Given the description of an element on the screen output the (x, y) to click on. 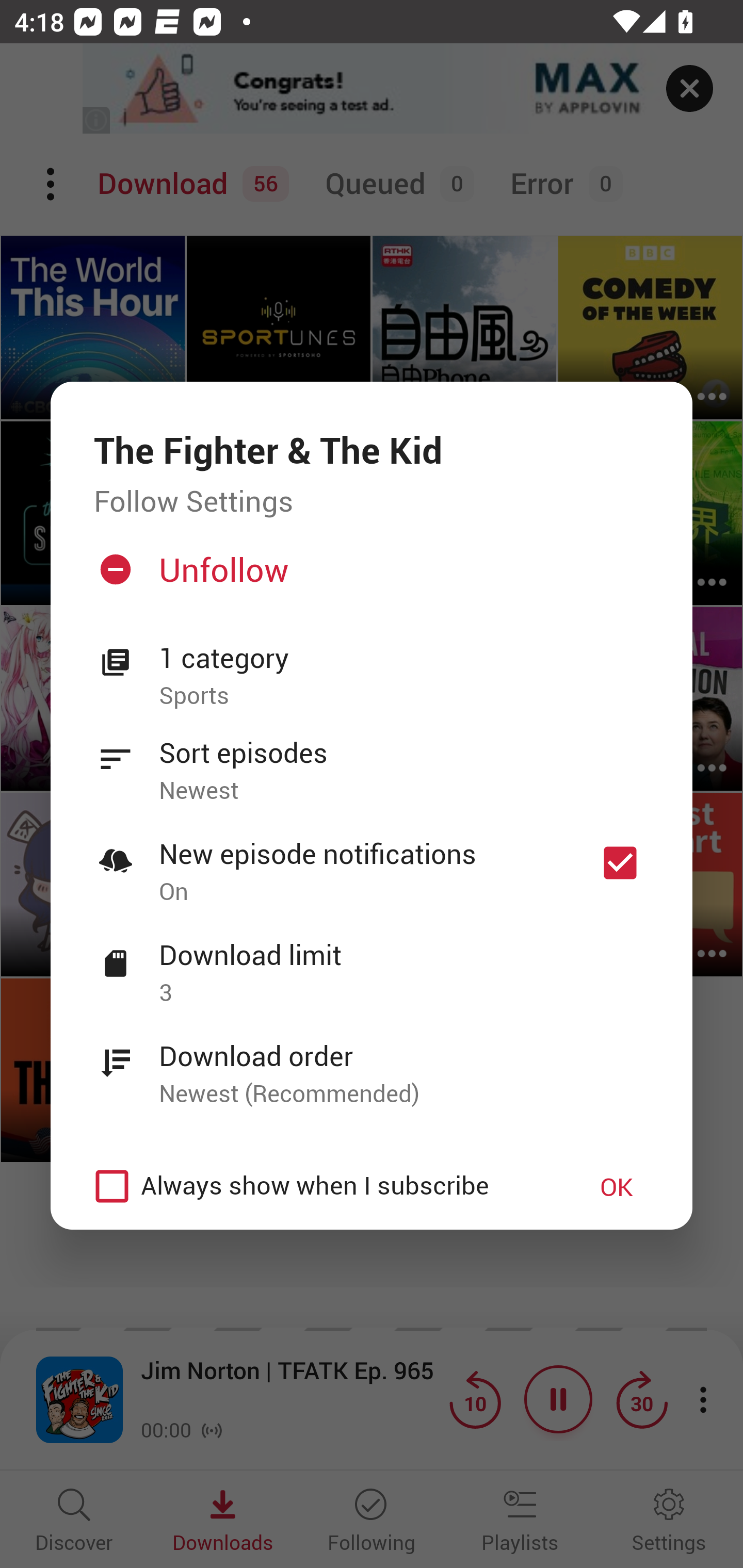
Unfollow (369, 576)
1 category (404, 658)
Sports (404, 696)
Sort episodes Newest (371, 760)
New episode notifications (620, 863)
Download limit 3 (371, 962)
Download order Newest (Recommended) (371, 1063)
OK (616, 1186)
Always show when I subscribe (320, 1186)
